Given the description of an element on the screen output the (x, y) to click on. 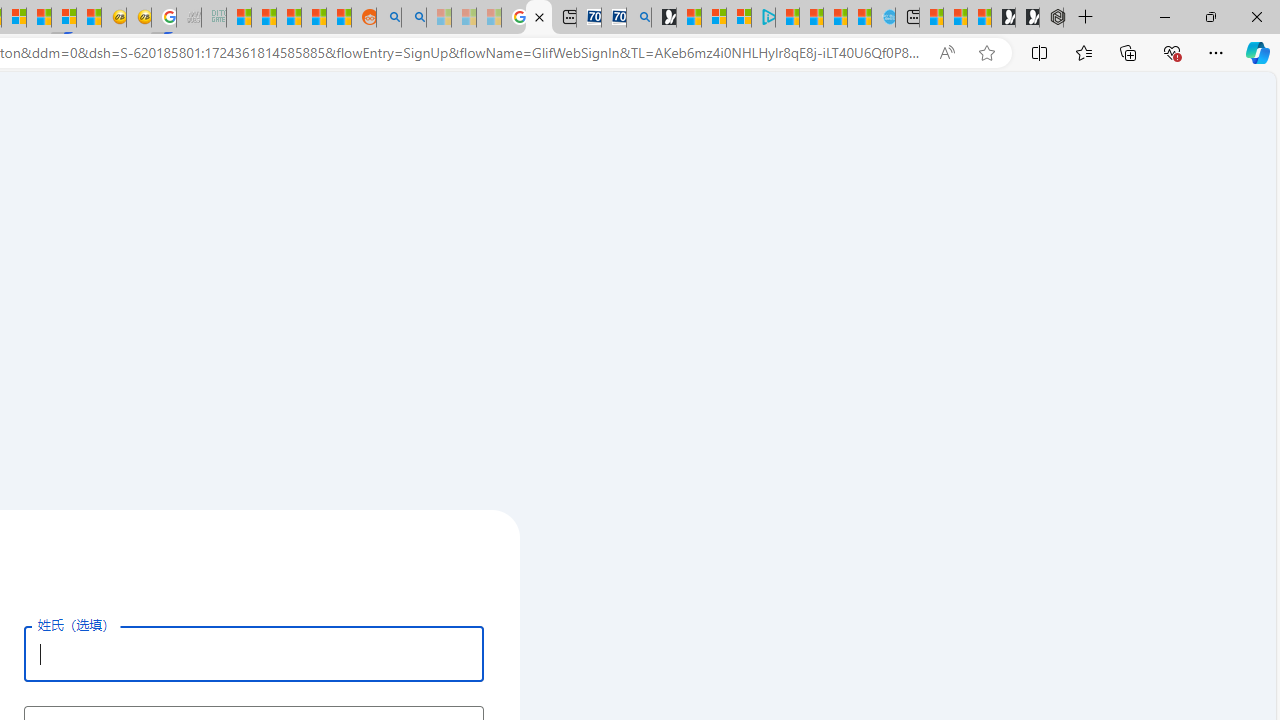
Student Loan Update: Forgiveness Program Ends This Month (314, 17)
